Given the description of an element on the screen output the (x, y) to click on. 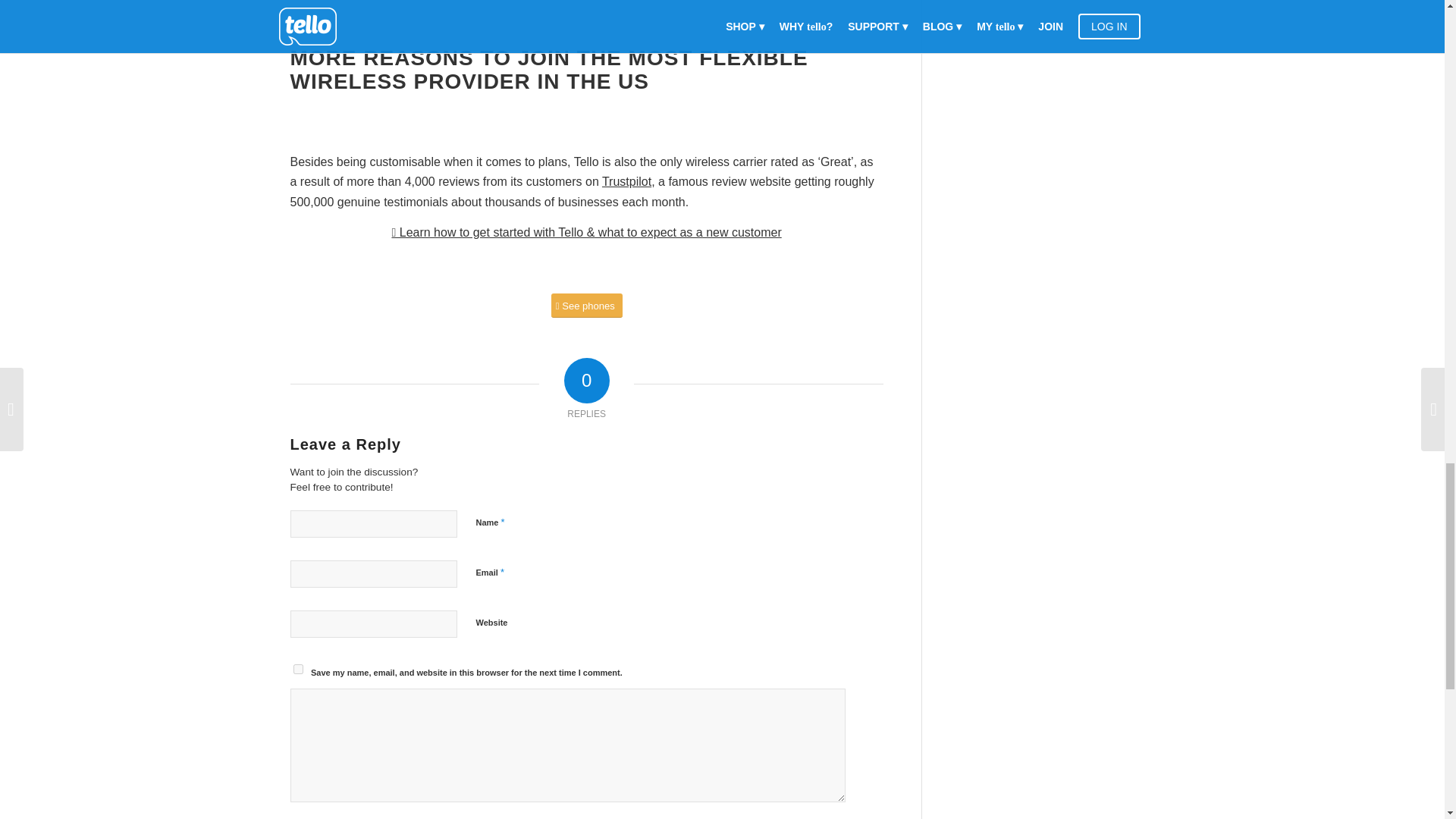
See phones (587, 305)
Trustpilot (626, 181)
yes (297, 669)
